Given the description of an element on the screen output the (x, y) to click on. 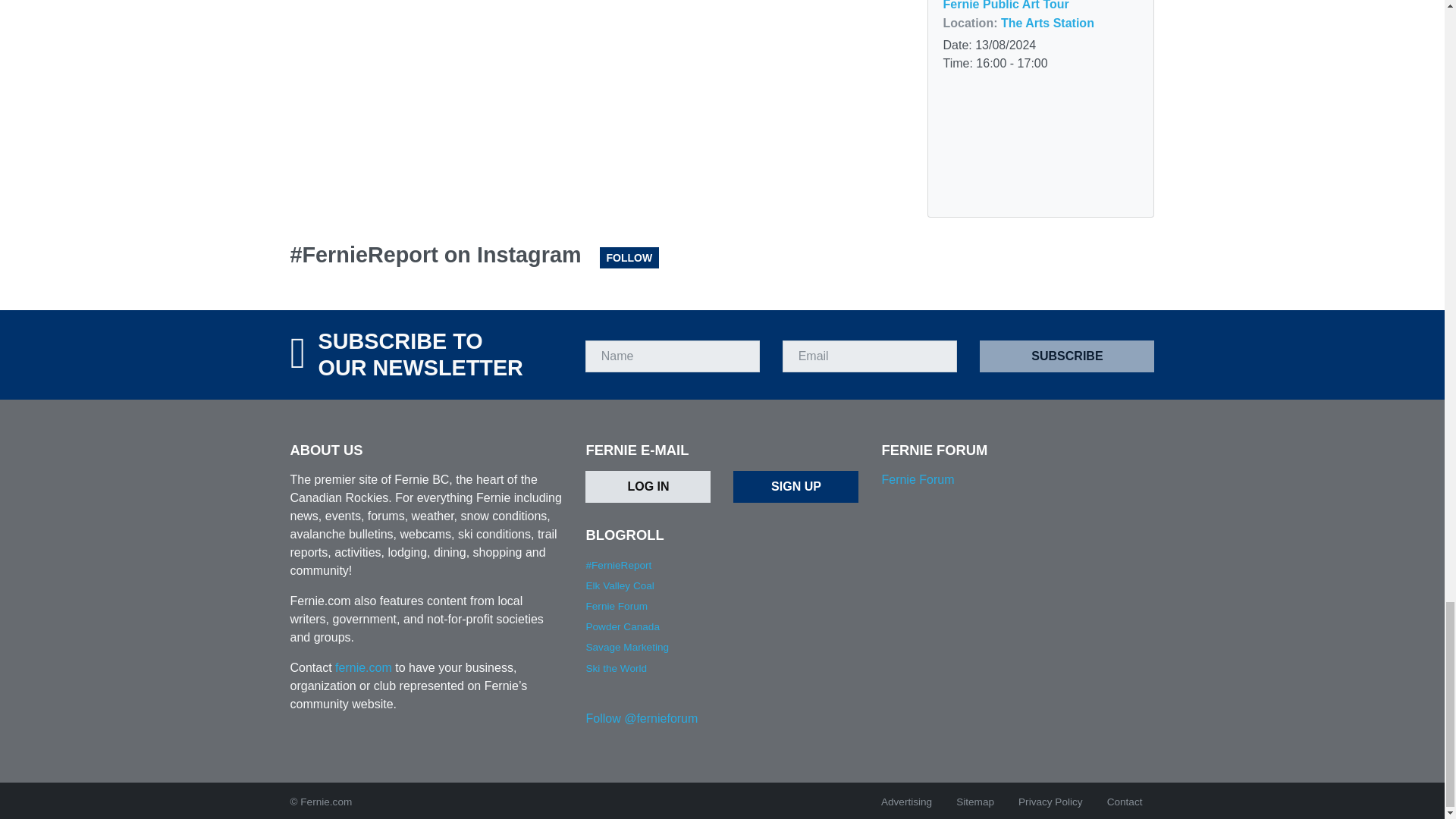
Savage Markerting is based in Fernie BC (626, 646)
Social media posts on everything Fernie. (617, 564)
Subscribe (1066, 356)
